Given the description of an element on the screen output the (x, y) to click on. 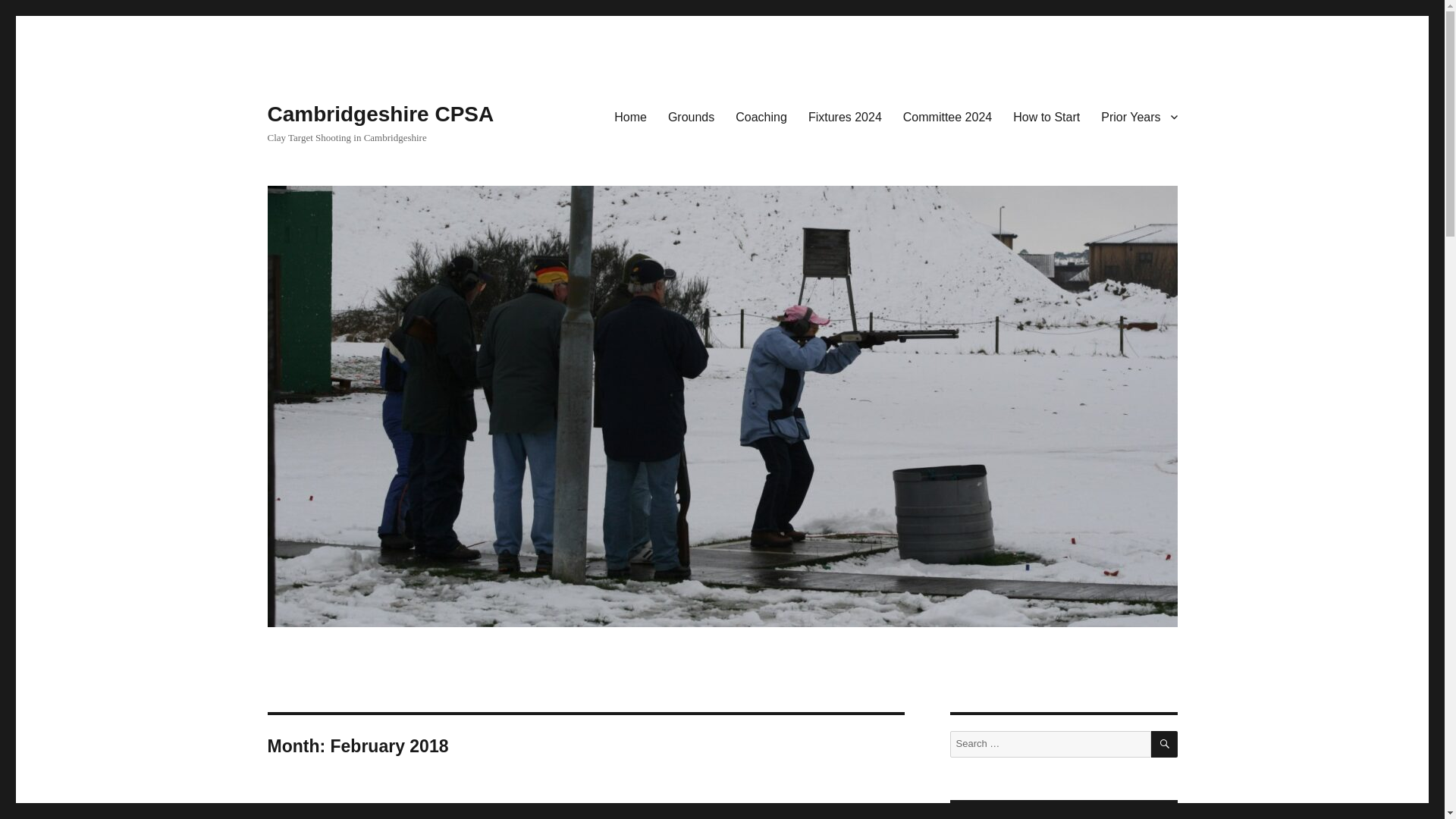
Fixtures 2024 (844, 116)
Cambridgeshire CPSA (379, 114)
Coaching (761, 116)
Home (631, 116)
Grounds (691, 116)
Committee 2024 (947, 116)
How to Start (1046, 116)
Prior Years (1139, 116)
